Given the description of an element on the screen output the (x, y) to click on. 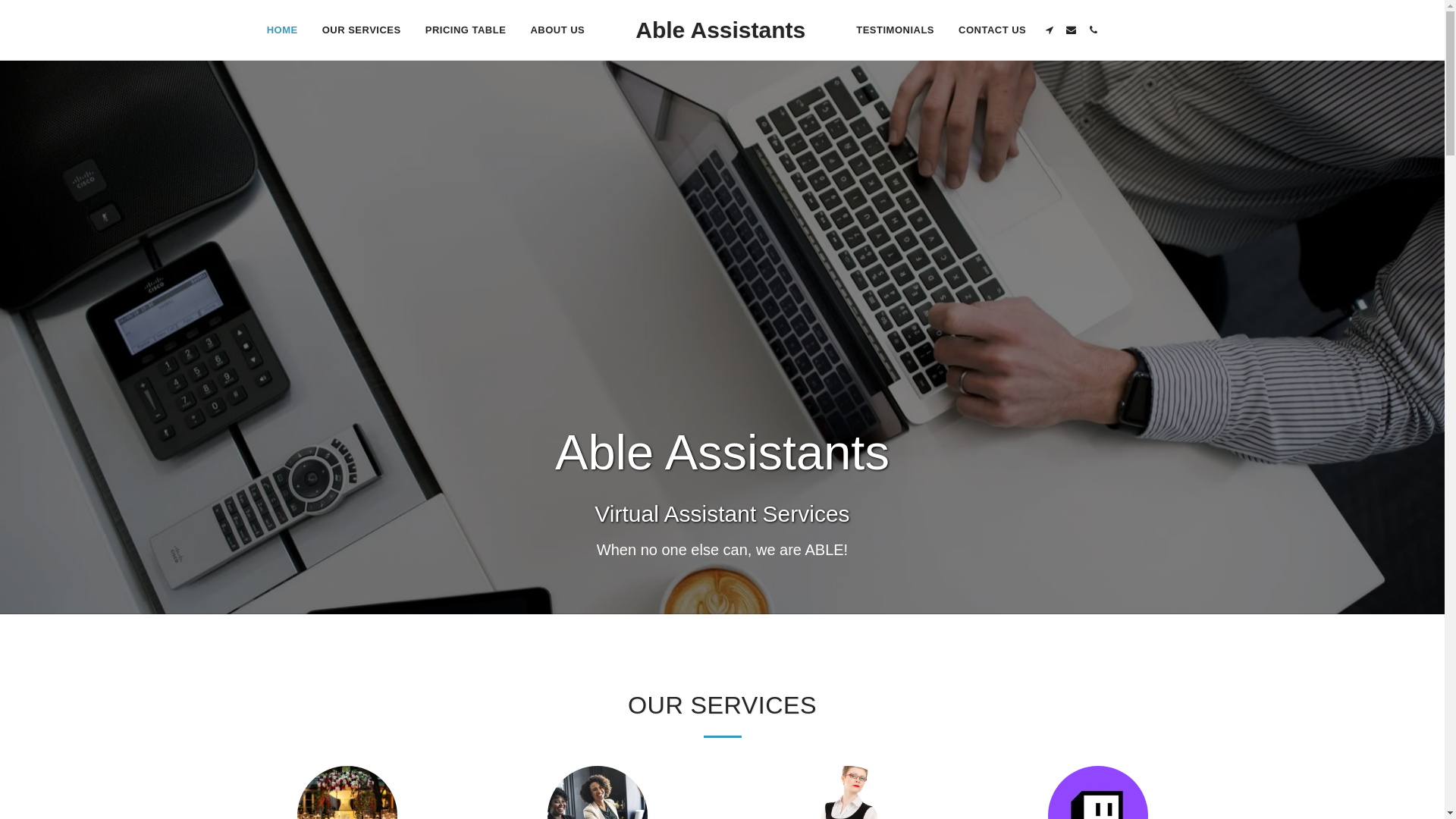
TESTIMONIALS (894, 29)
ABOUT US (556, 29)
CONTACT US (991, 29)
HOME (282, 29)
TESTIMONIALS (894, 29)
ABOUT US (556, 29)
Able Assistants (719, 30)
Able Assistants (719, 30)
PRICING TABLE (465, 29)
OUR SERVICES (361, 29)
OUR SERVICES (361, 29)
HOME (282, 29)
